Given the description of an element on the screen output the (x, y) to click on. 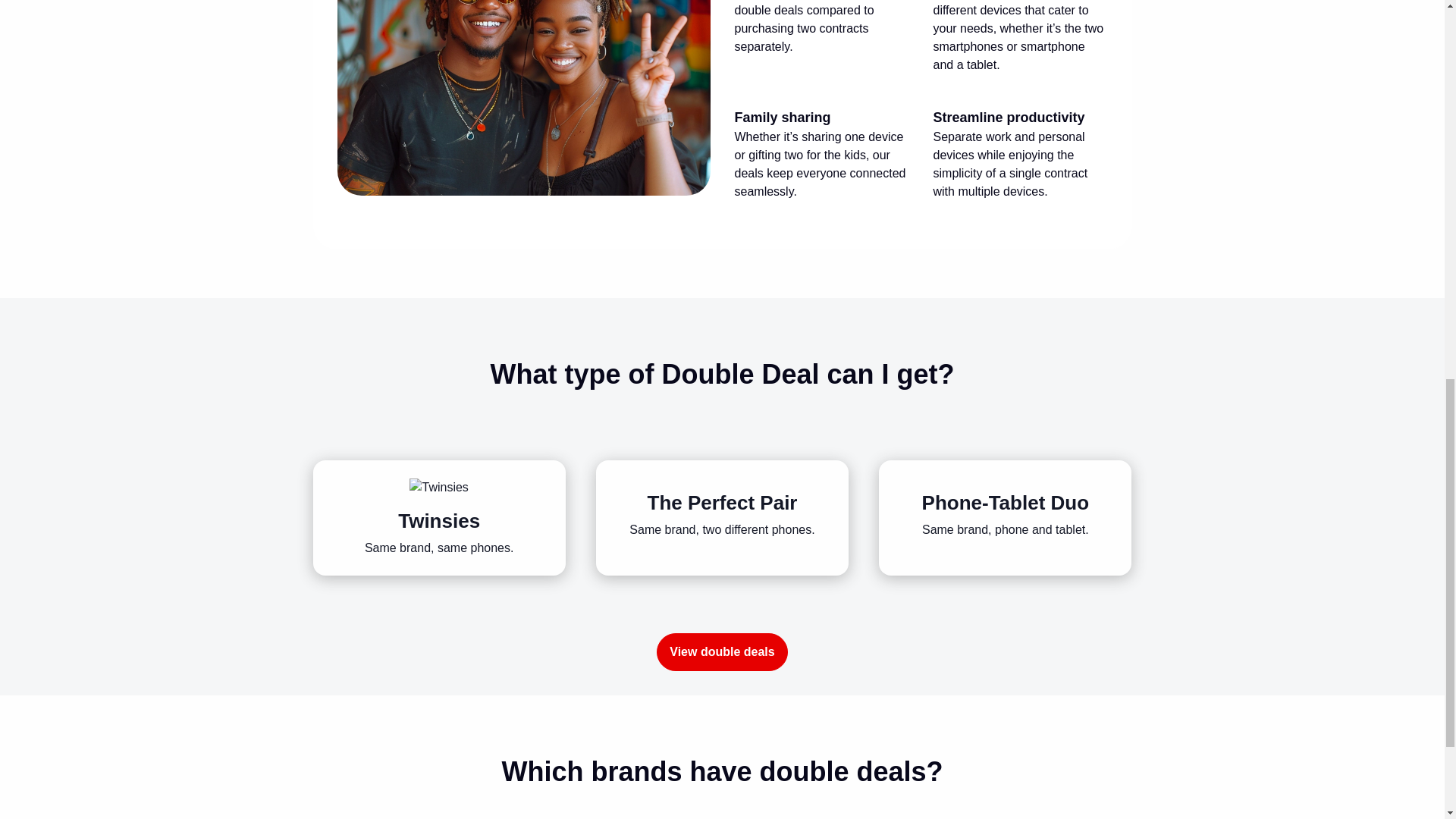
Twinsies (438, 487)
